Given the description of an element on the screen output the (x, y) to click on. 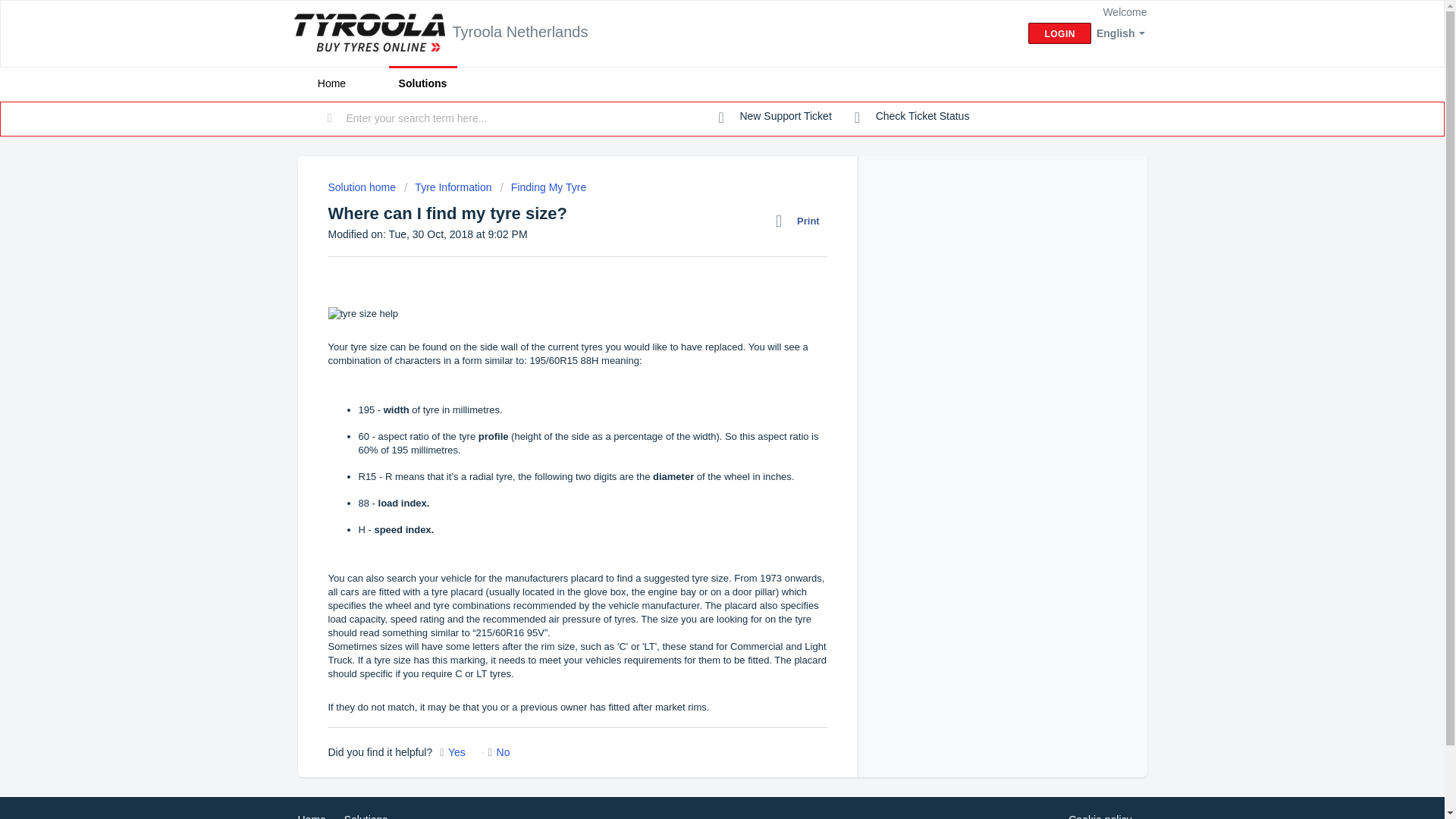
Why we love Cookies (1099, 815)
Check Ticket Status (911, 116)
Home (331, 83)
Cookie policy (1099, 815)
Solutions (365, 816)
Tyre Information (448, 186)
Home (310, 816)
Solution home (362, 186)
LOGIN (1058, 33)
Check ticket status (911, 116)
